Given the description of an element on the screen output the (x, y) to click on. 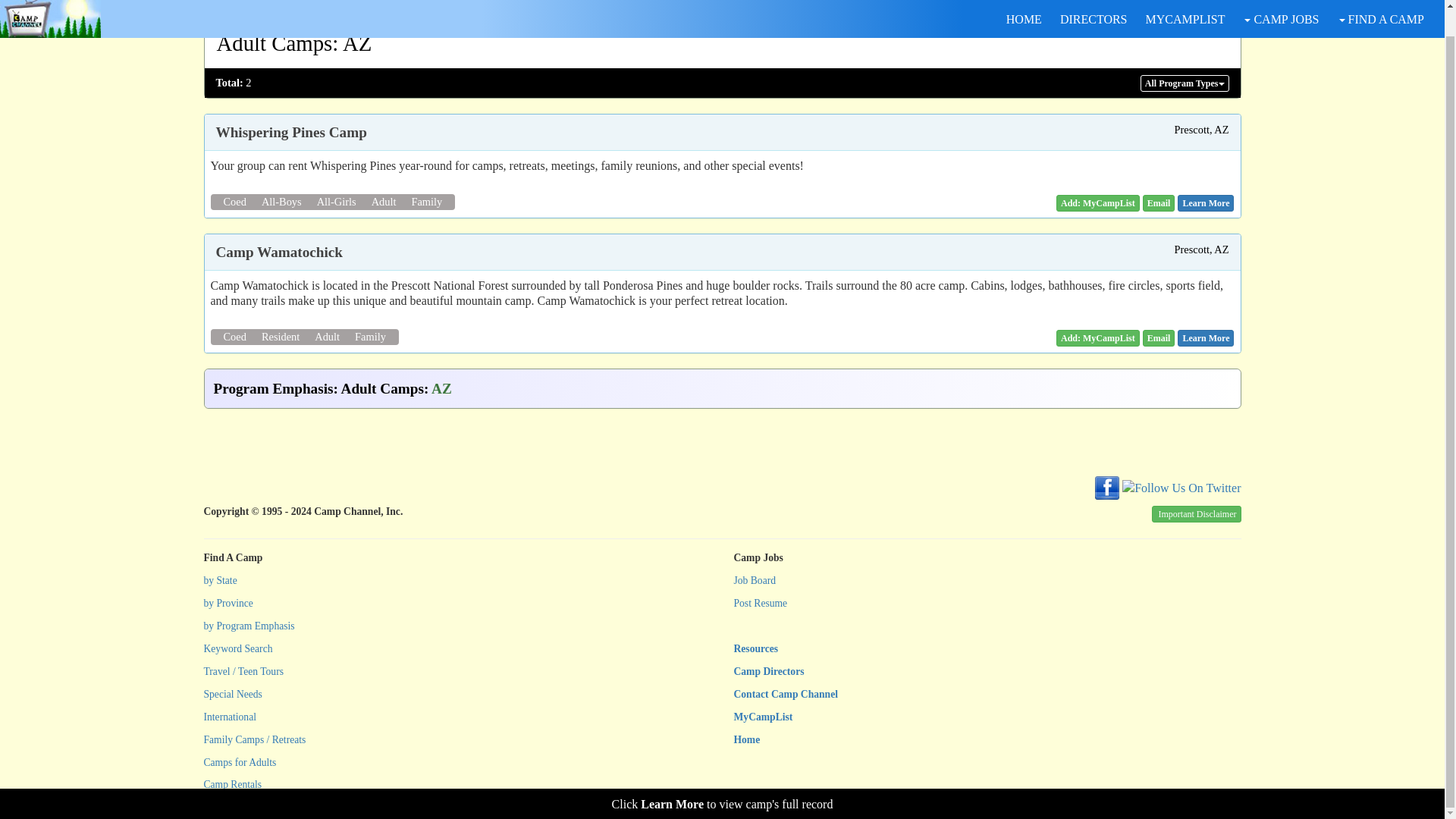
FIND A CAMP (1379, 2)
HOME (1024, 2)
MYCAMPLIST (1184, 2)
CAMP JOBS (1280, 2)
AZ (356, 43)
Adult Camps (274, 43)
All Program Types (1184, 83)
Add: MyCampList (1098, 202)
Add: MyCampList (1098, 338)
DIRECTORS (1094, 2)
